Given the description of an element on the screen output the (x, y) to click on. 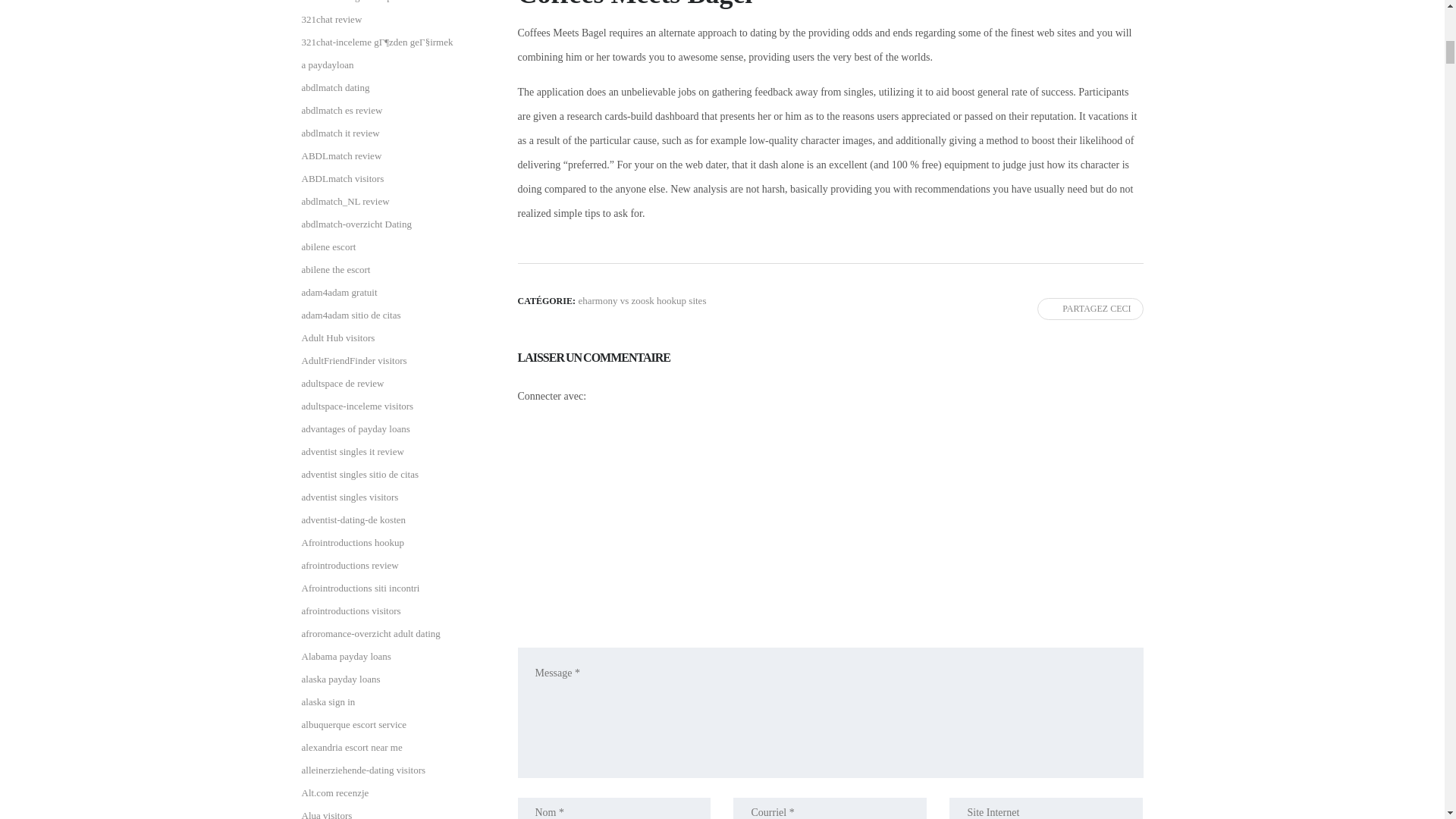
Connect with Twitter (638, 582)
PARTAGEZ CECI (1089, 309)
Partagez ceci (1089, 309)
eharmony vs zoosk hookup sites (642, 300)
Connect with Facebook (639, 468)
Connect with Google (868, 468)
